Given the description of an element on the screen output the (x, y) to click on. 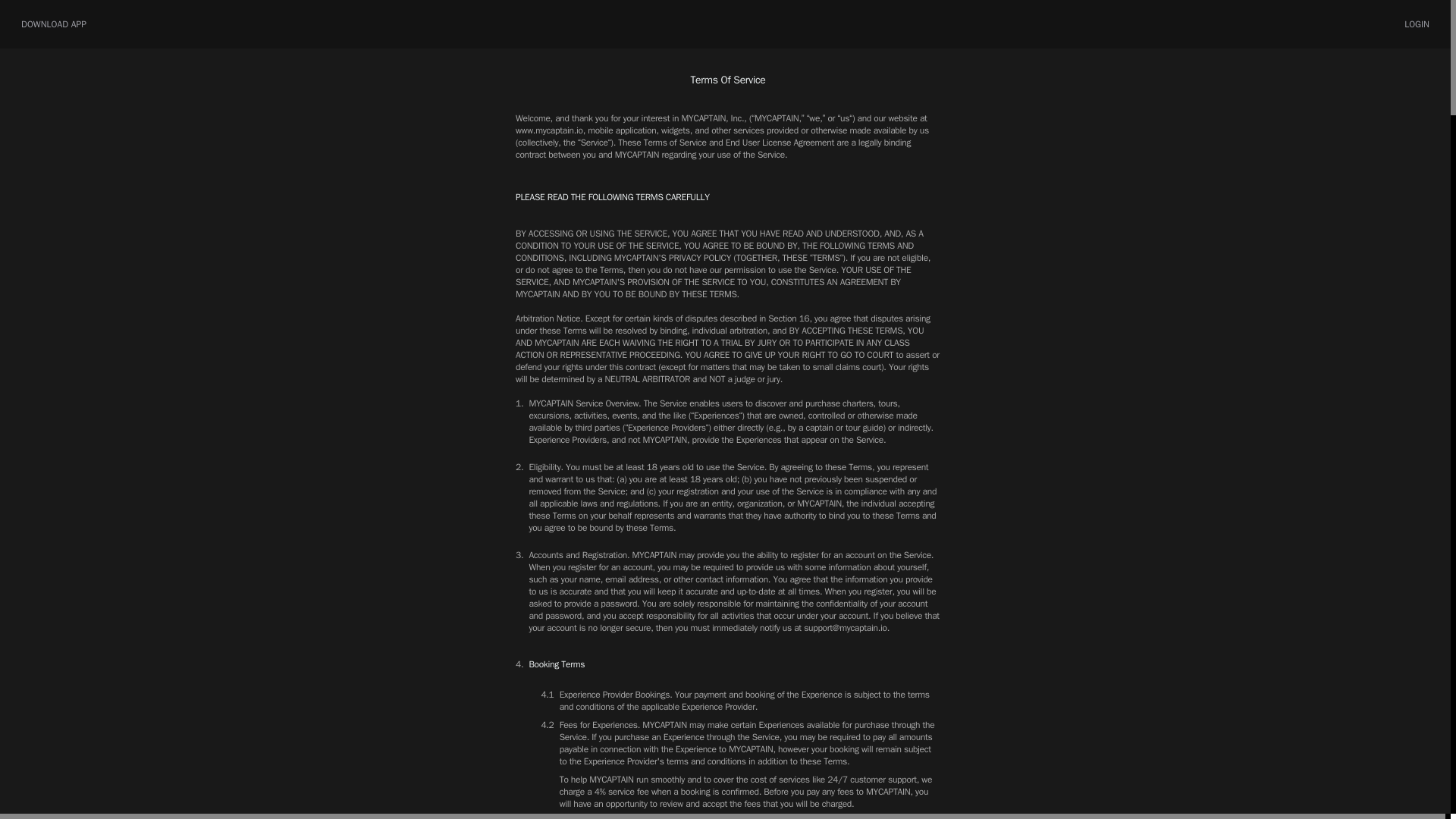
LOGIN (1416, 24)
DOWNLOAD APP (39, 24)
